Given the description of an element on the screen output the (x, y) to click on. 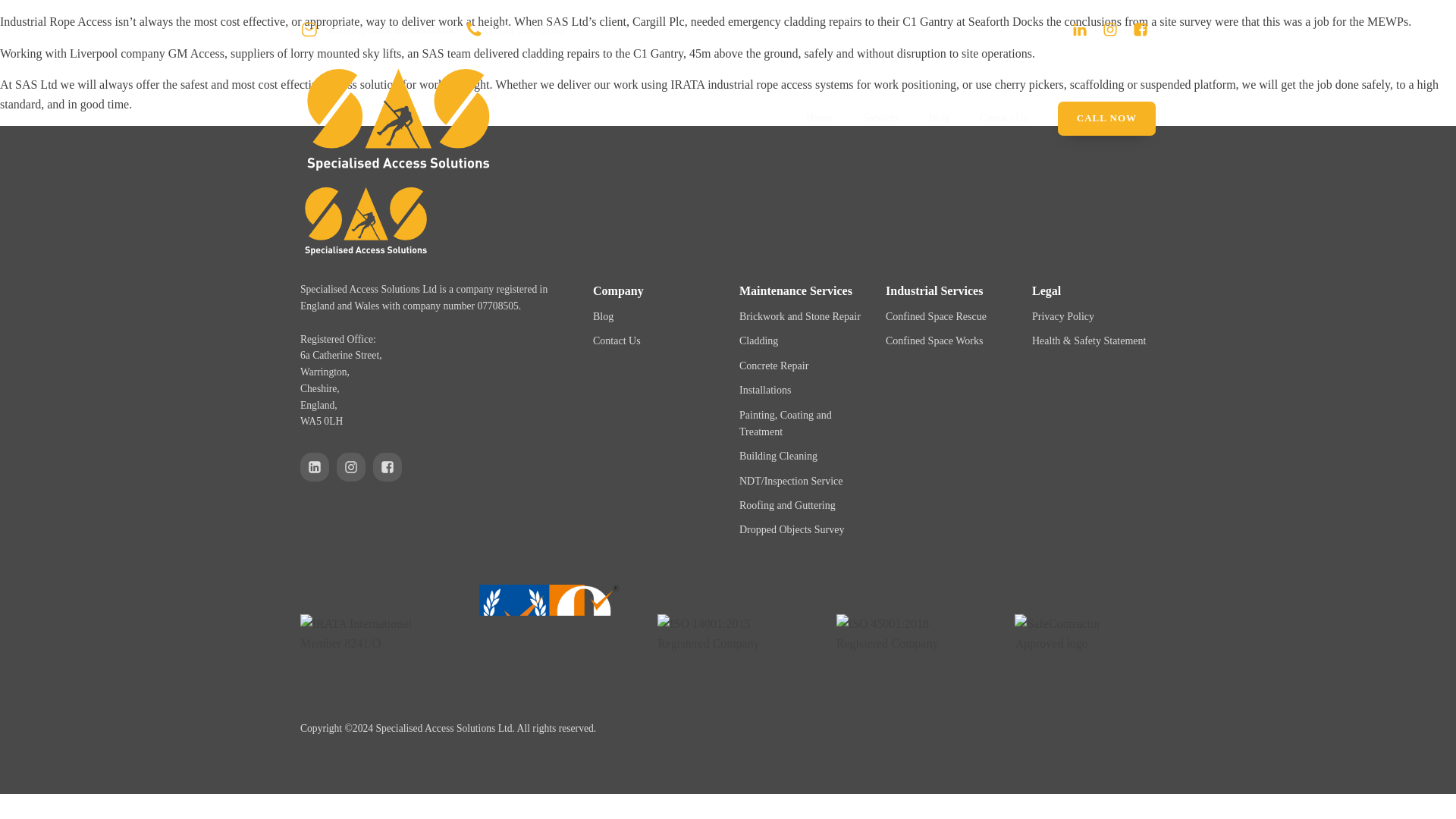
Blog (602, 316)
Contact Us (1002, 118)
Roofing and Guttering (787, 505)
Contact Us (616, 340)
Building Cleaning (777, 456)
Cladding (758, 340)
Painting, Coating and Treatment (801, 424)
Brickwork and Stone Repair (799, 316)
Concrete Repair (773, 365)
Home (818, 118)
CALL NOW (1107, 118)
0151 268 6182 (513, 29)
Dropped Objects Survey (791, 529)
Privacy Policy (1063, 316)
Blog (938, 118)
